Given the description of an element on the screen output the (x, y) to click on. 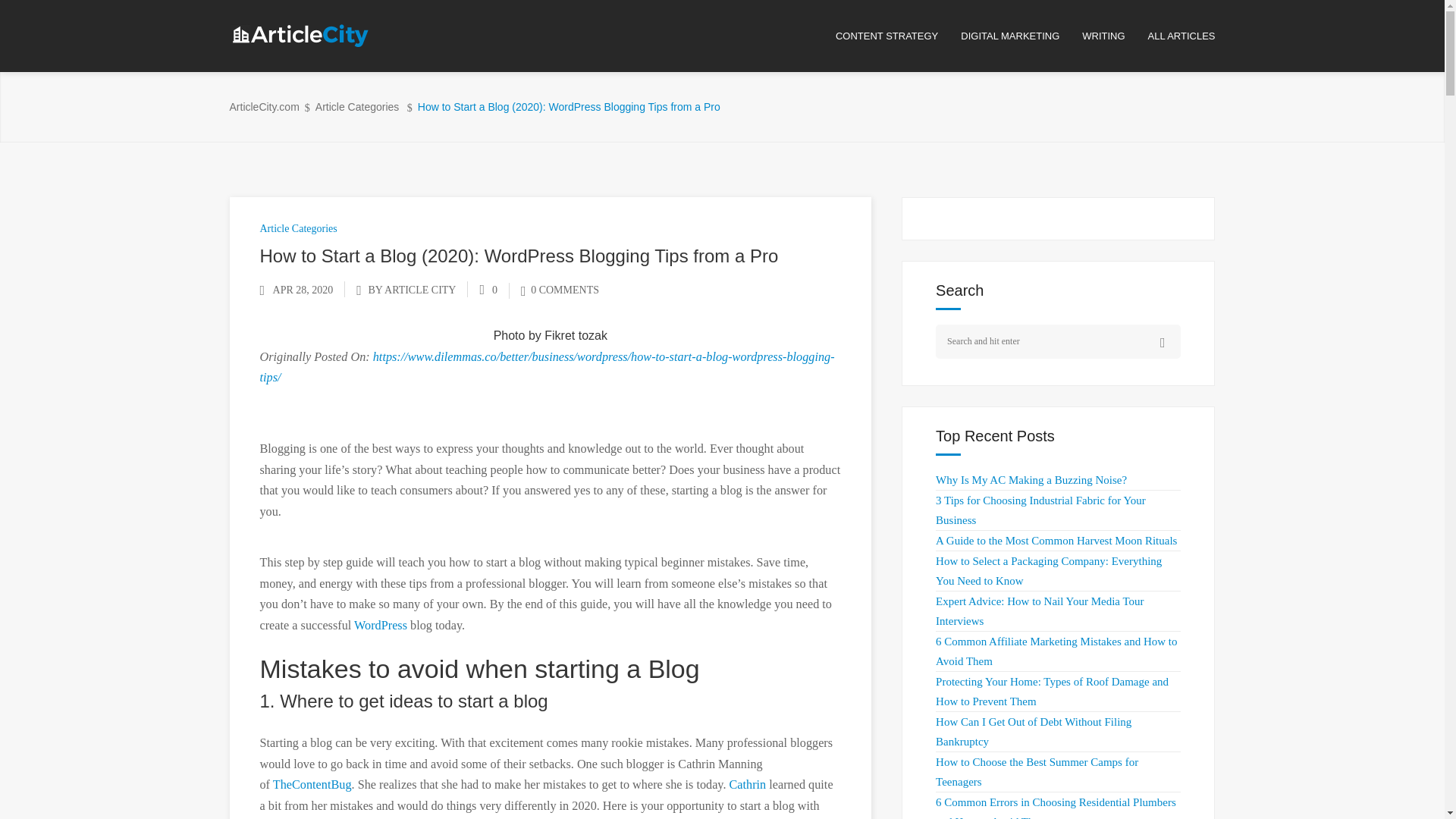
Article Categories (297, 228)
Like this (488, 289)
WRITING (1114, 36)
WordPress  (381, 625)
BY ARTICLE CITY (411, 289)
DIGITAL MARKETING (1020, 36)
Article Categories (356, 107)
0 (488, 289)
ArticleCity.com (263, 107)
TheContentBug (312, 784)
